Given the description of an element on the screen output the (x, y) to click on. 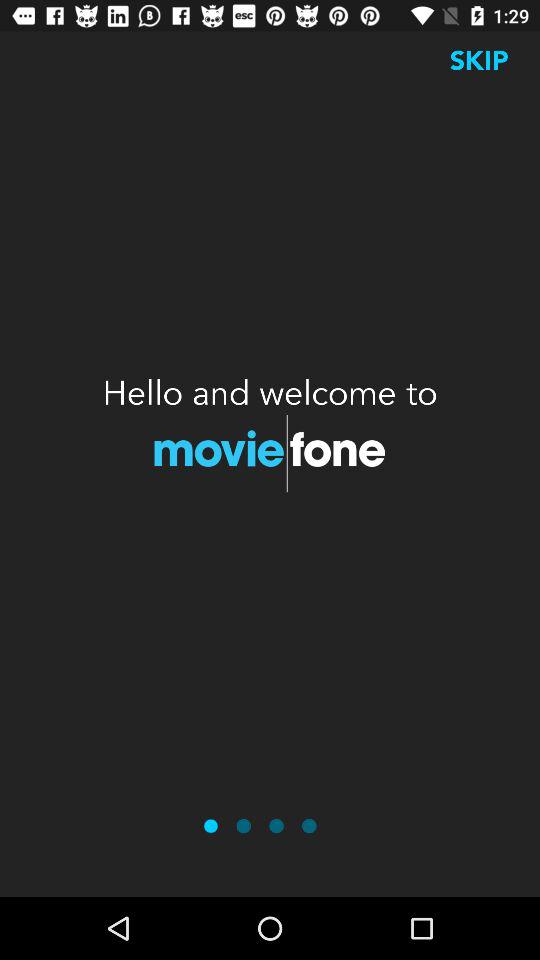
turn off the icon above hello and welcome icon (479, 60)
